Given the description of an element on the screen output the (x, y) to click on. 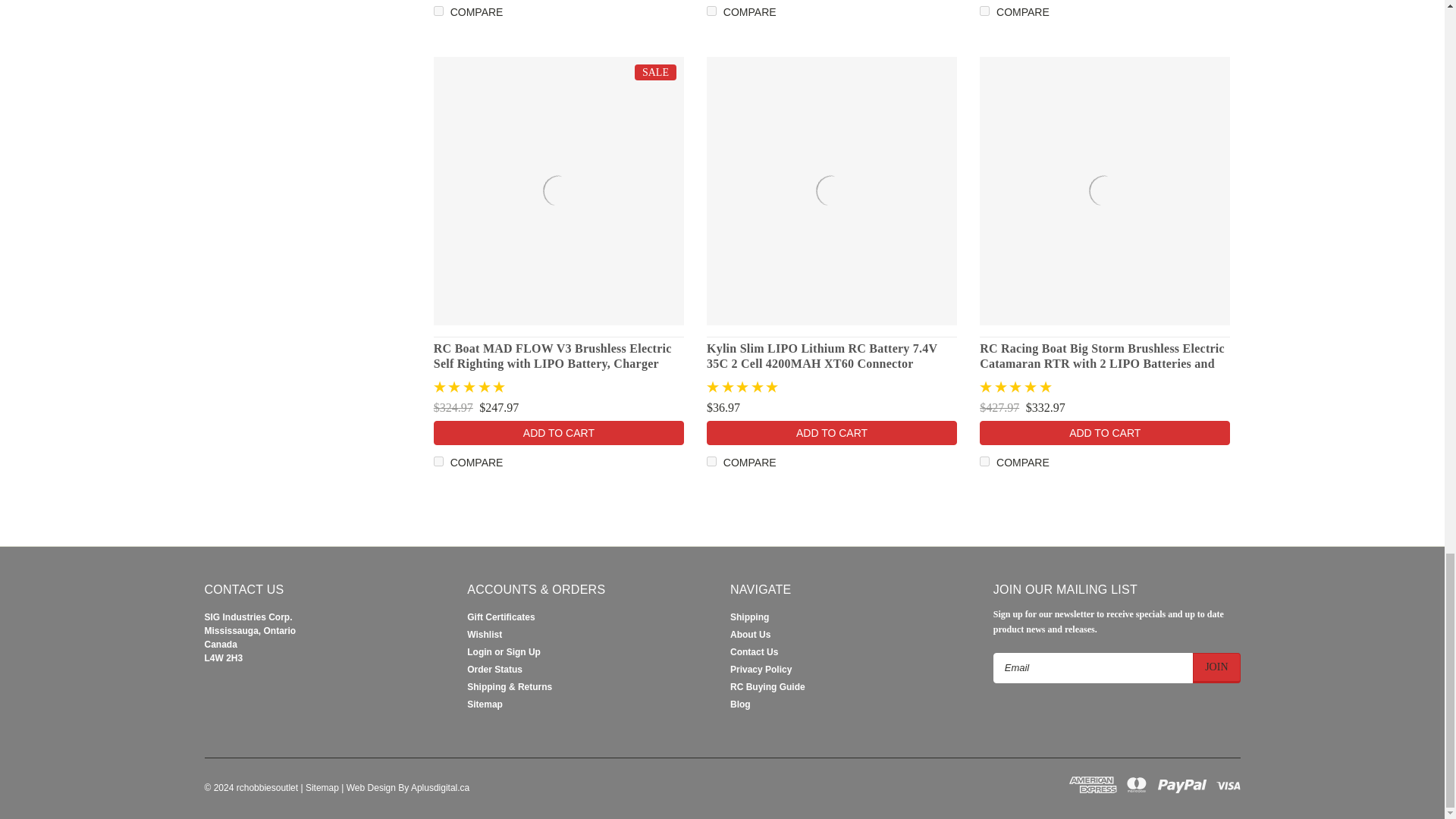
Join (1216, 667)
2498 (711, 461)
2666 (984, 10)
2938 (711, 10)
2942 (438, 10)
2482 (984, 461)
2507 (438, 461)
